Given the description of an element on the screen output the (x, y) to click on. 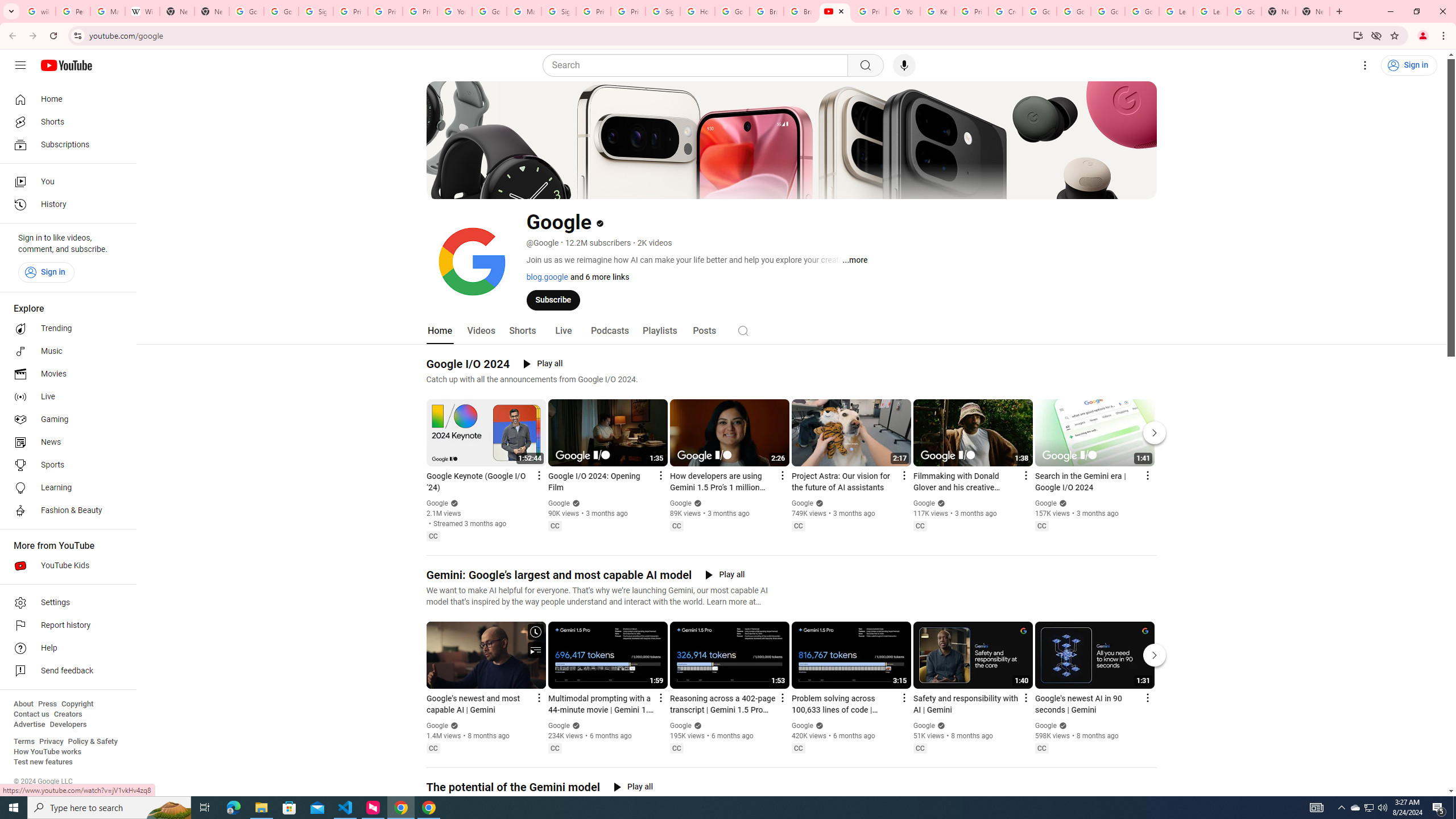
New Tab (211, 11)
How YouTube works (47, 751)
Advertise (29, 724)
Play all (633, 787)
and 6 more links (598, 276)
Sign in - Google Accounts (557, 11)
Shorts (521, 330)
